Given the description of an element on the screen output the (x, y) to click on. 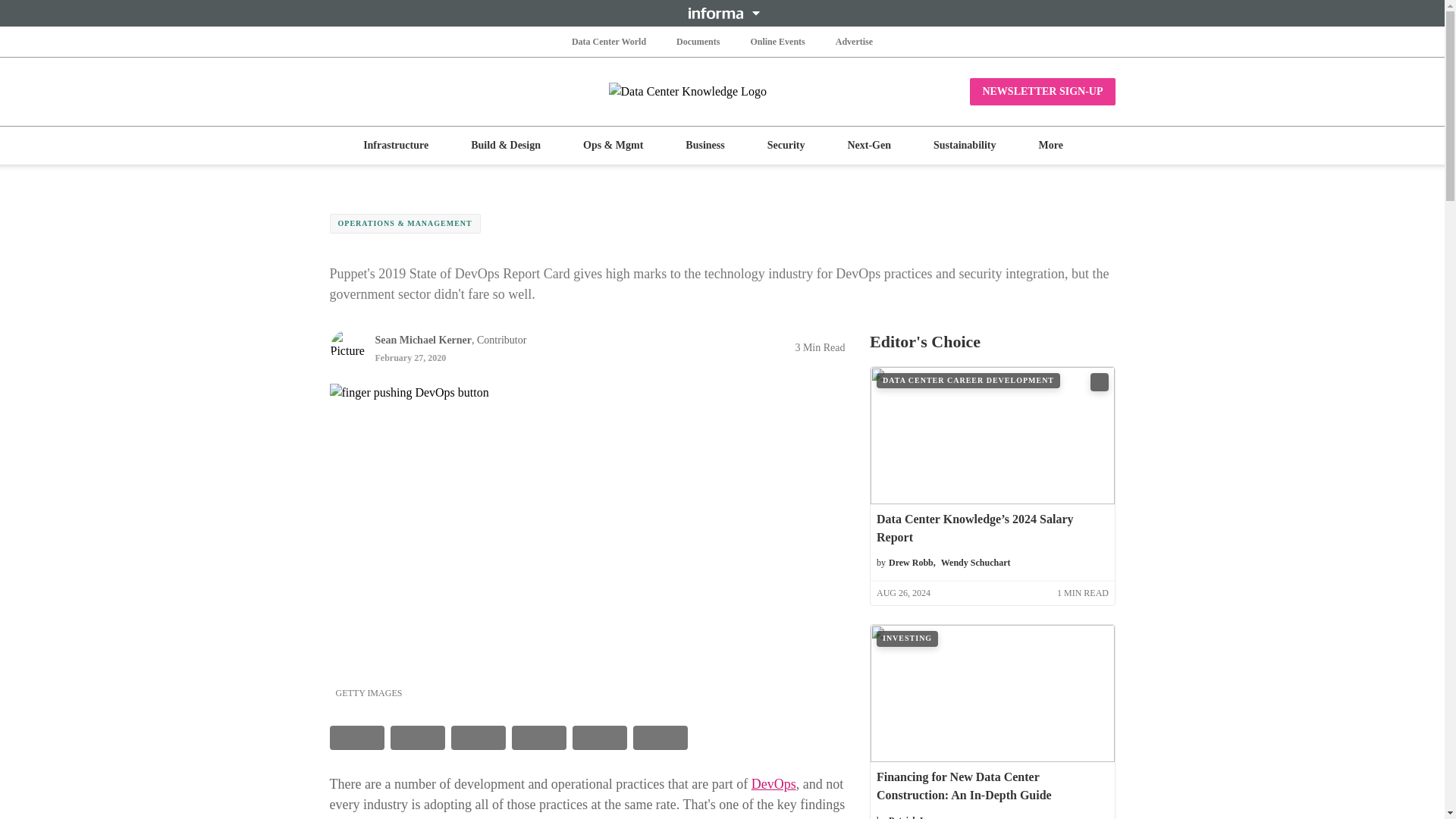
Online Events (777, 41)
Advertise (854, 41)
Documents (697, 41)
NEWSLETTER SIGN-UP (1042, 90)
Data Center World (609, 41)
Data Center Knowledge Logo (721, 91)
Picture of Sean Michael Kerner (347, 347)
